Given the description of an element on the screen output the (x, y) to click on. 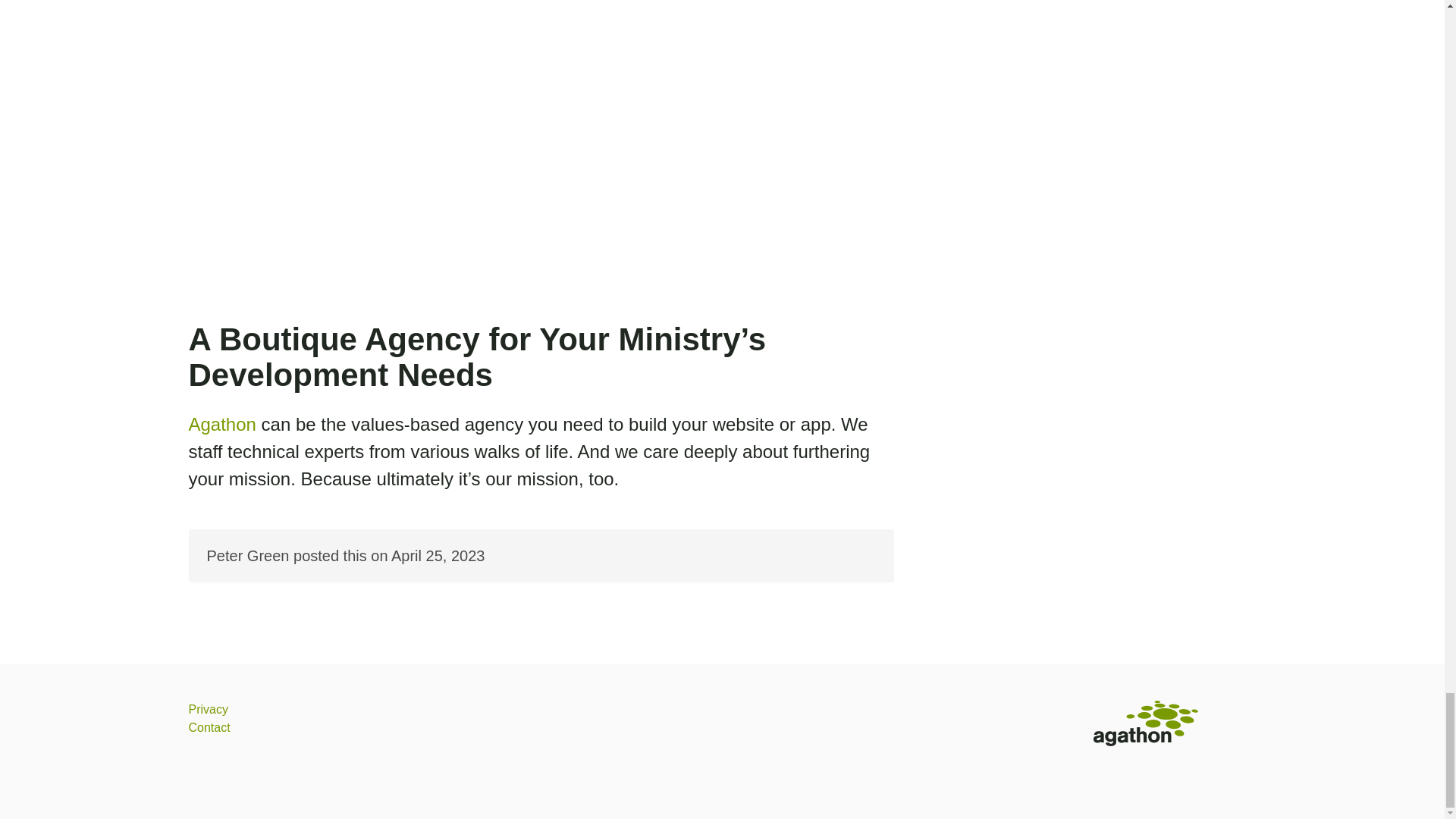
Privacy (207, 708)
Contact (208, 727)
Agathon (221, 424)
